Given the description of an element on the screen output the (x, y) to click on. 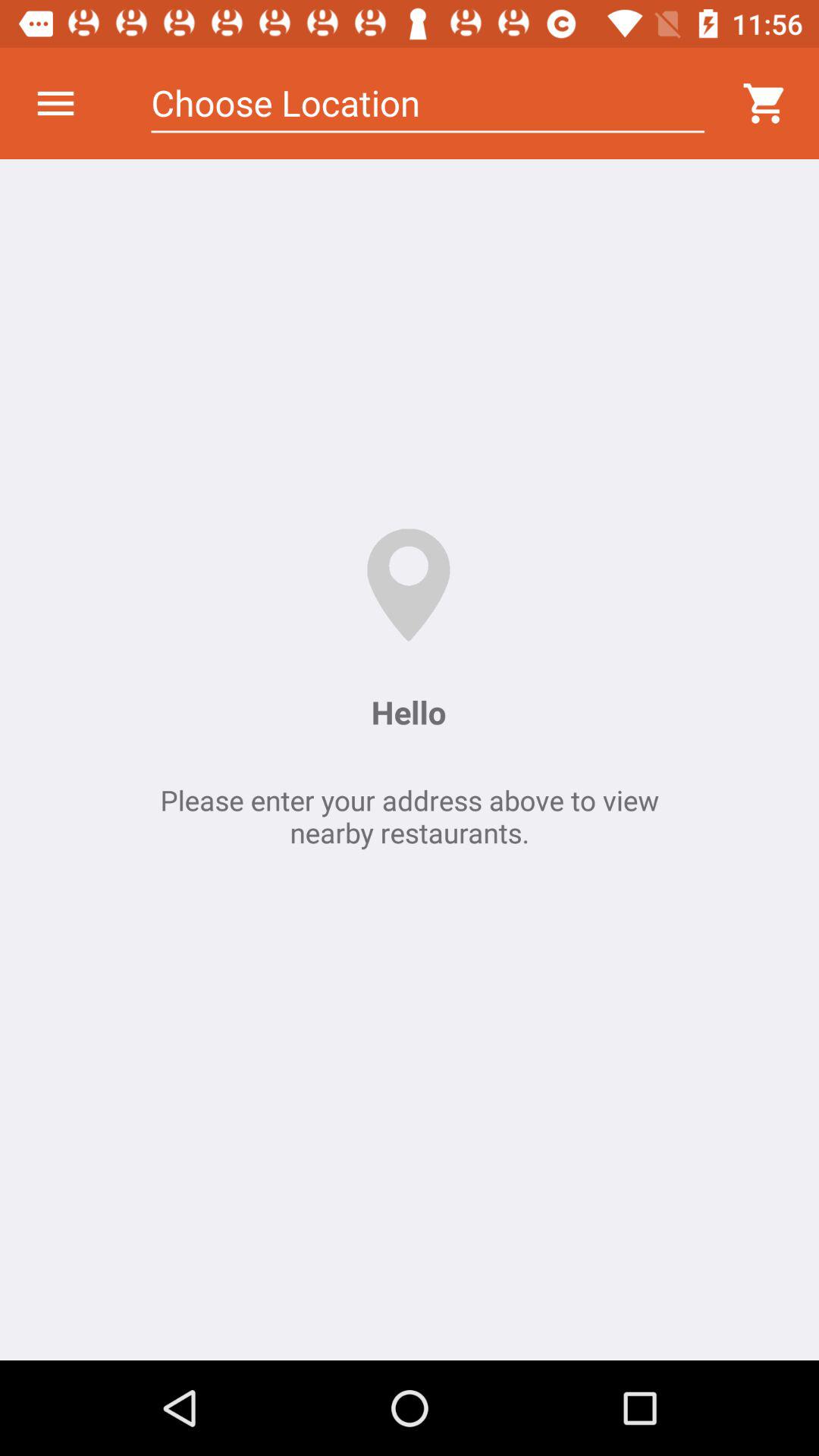
press the choose location item (427, 103)
